Given the description of an element on the screen output the (x, y) to click on. 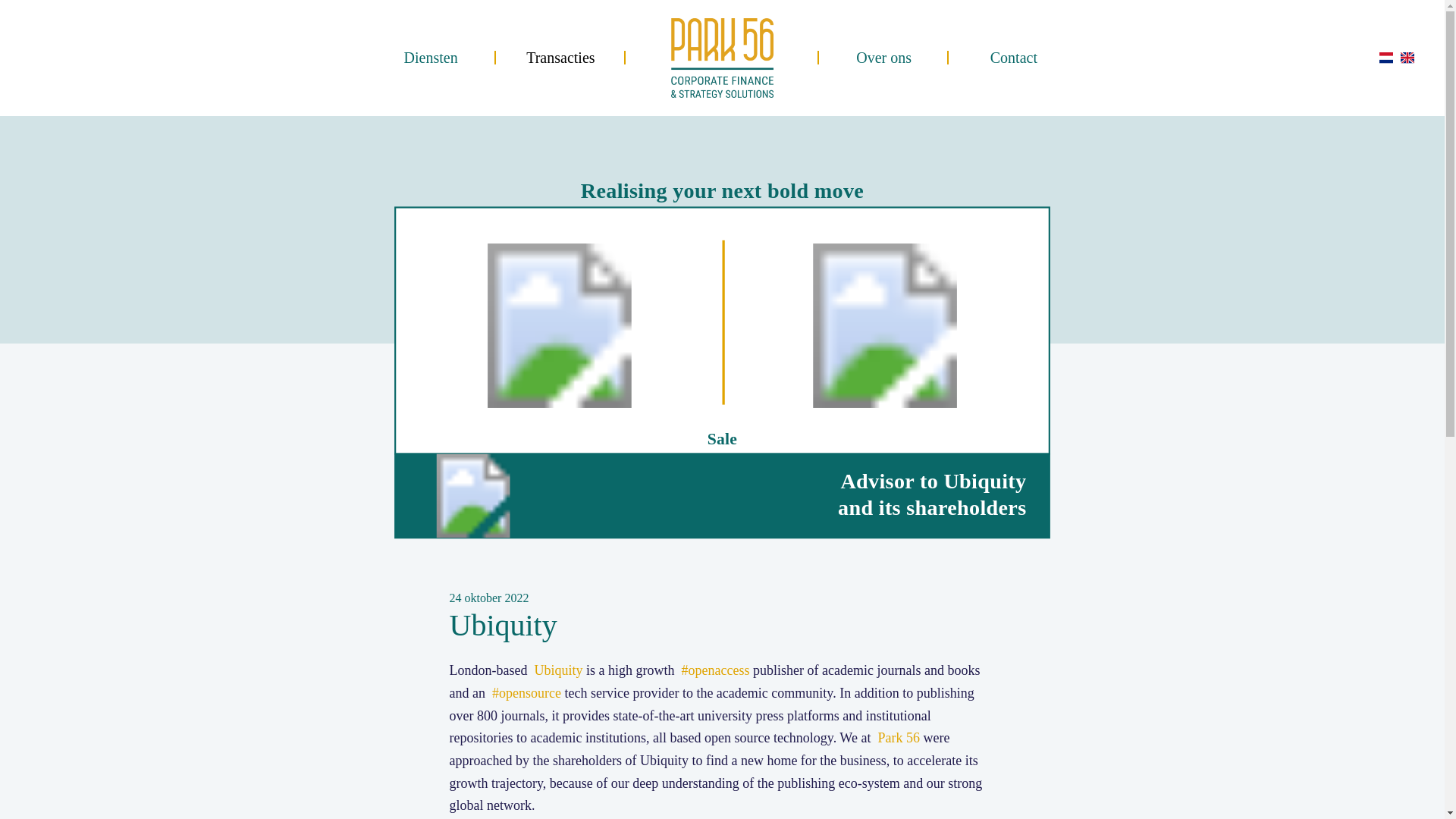
Over ons (883, 57)
Diensten (431, 57)
Ubiquity (558, 670)
Park 56 (898, 737)
Transacties (559, 57)
Contact (1013, 57)
